Given the description of an element on the screen output the (x, y) to click on. 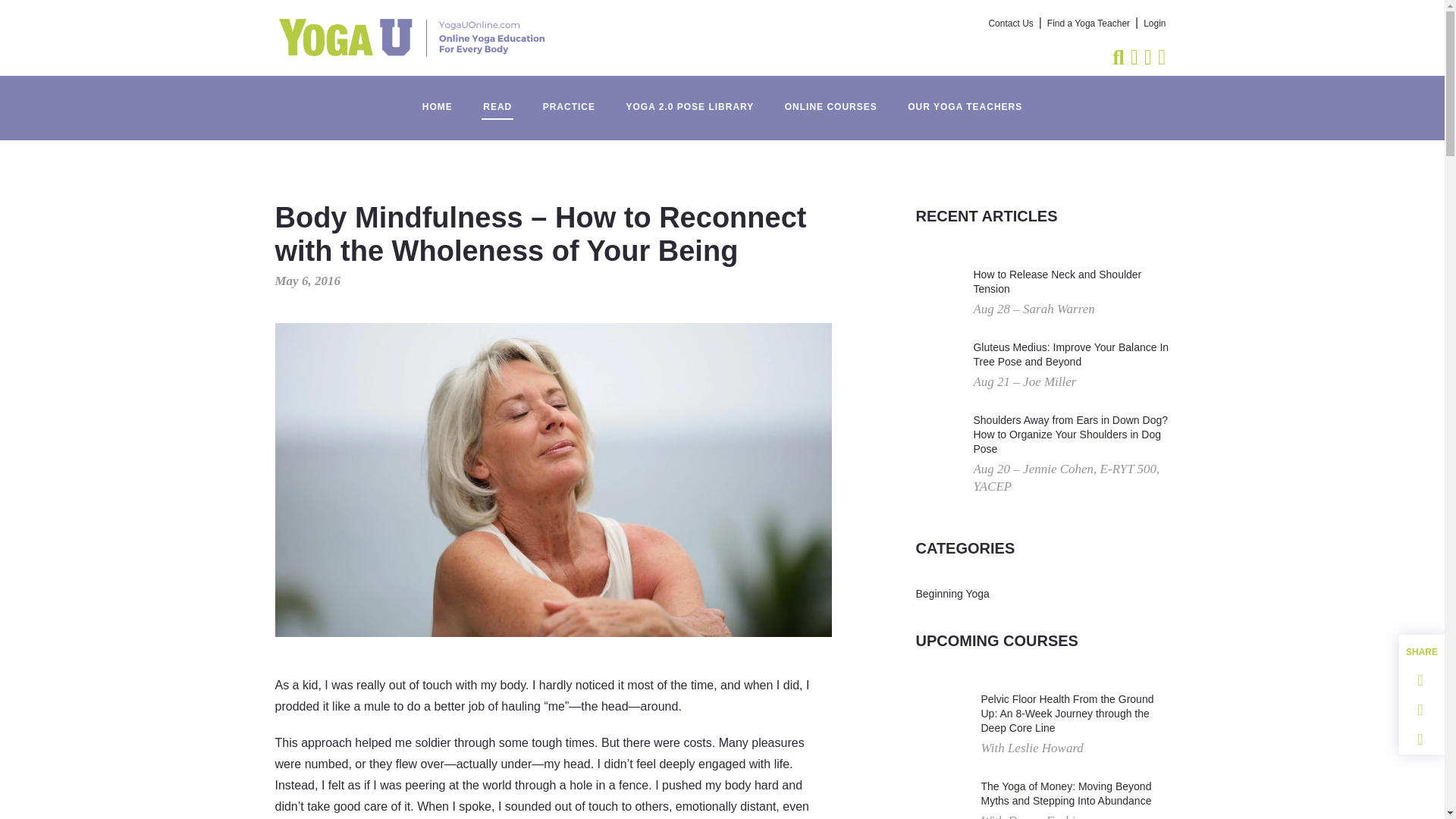
YOGA 2.0 POSE LIBRARY (689, 99)
Contact Us (1011, 23)
PRACTICE (568, 99)
OUR YOGA TEACHERS (964, 99)
ONLINE COURSES (831, 99)
HOME (437, 99)
Find a Yoga Teacher (1088, 23)
READ (496, 99)
